Given the description of an element on the screen output the (x, y) to click on. 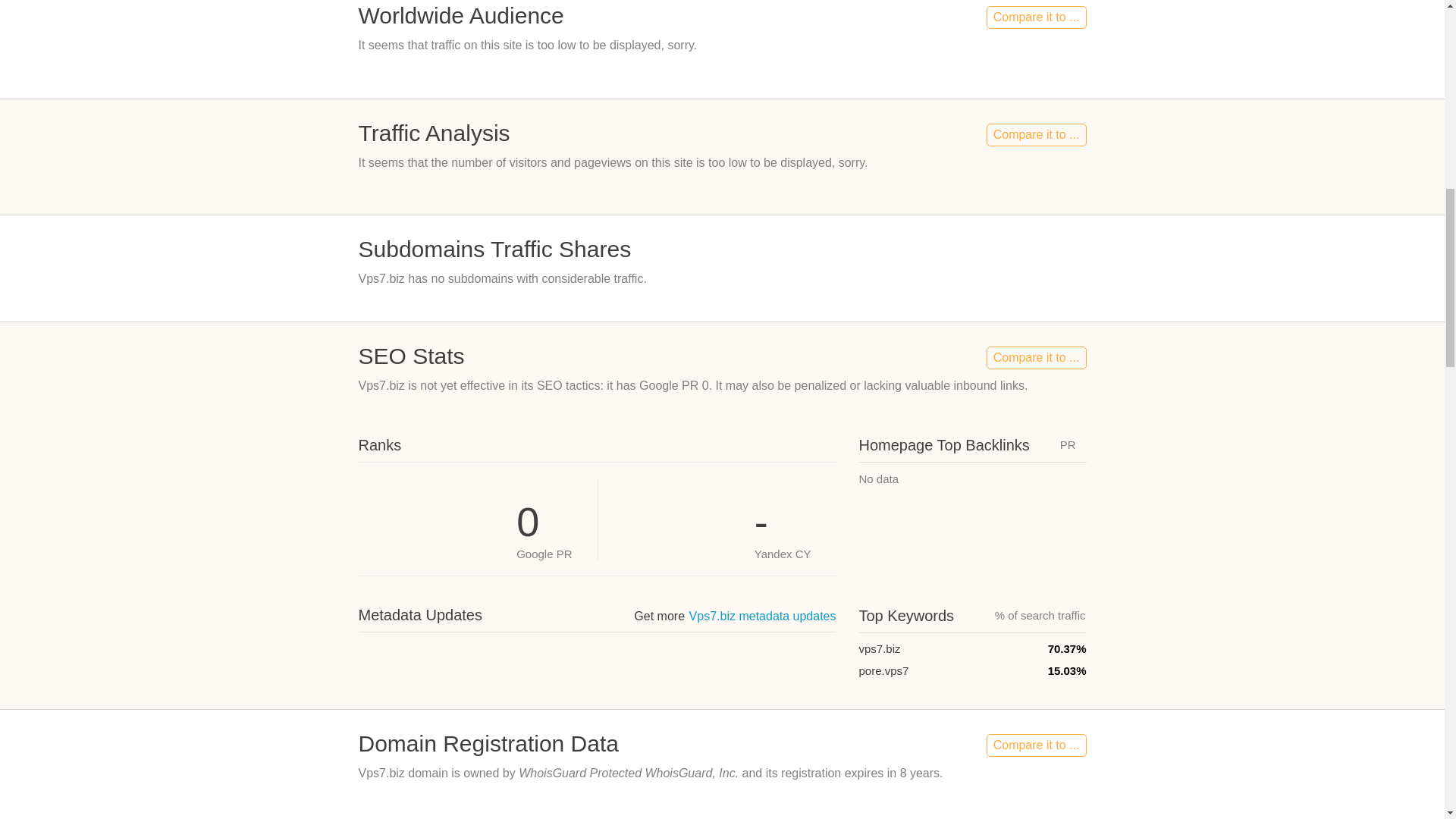
Compare it to ... (1036, 134)
Compare it to ... (1036, 16)
Vps7.biz metadata updates (761, 615)
Compare it to ... (1036, 357)
Compare it to ... (1036, 744)
